Given the description of an element on the screen output the (x, y) to click on. 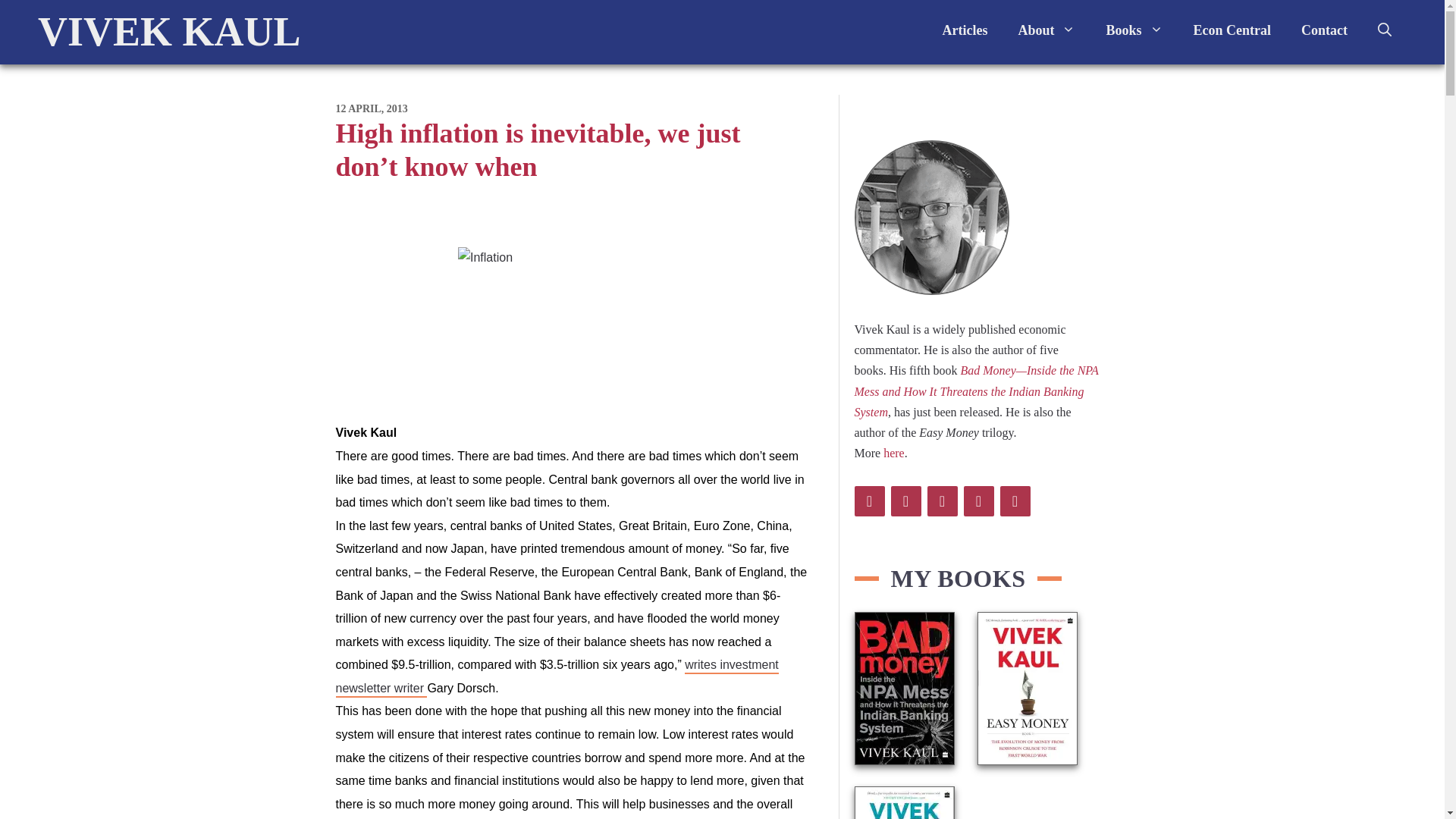
Twitter (868, 501)
Books (1133, 30)
Econ Central (1232, 30)
Get in touch  (1323, 30)
writes investment newsletter writer  (555, 677)
VIVEK KAUL (169, 31)
Contact (1323, 30)
About (1046, 30)
Articles (964, 30)
Books written by Vivek Kaul (1133, 30)
